Given the description of an element on the screen output the (x, y) to click on. 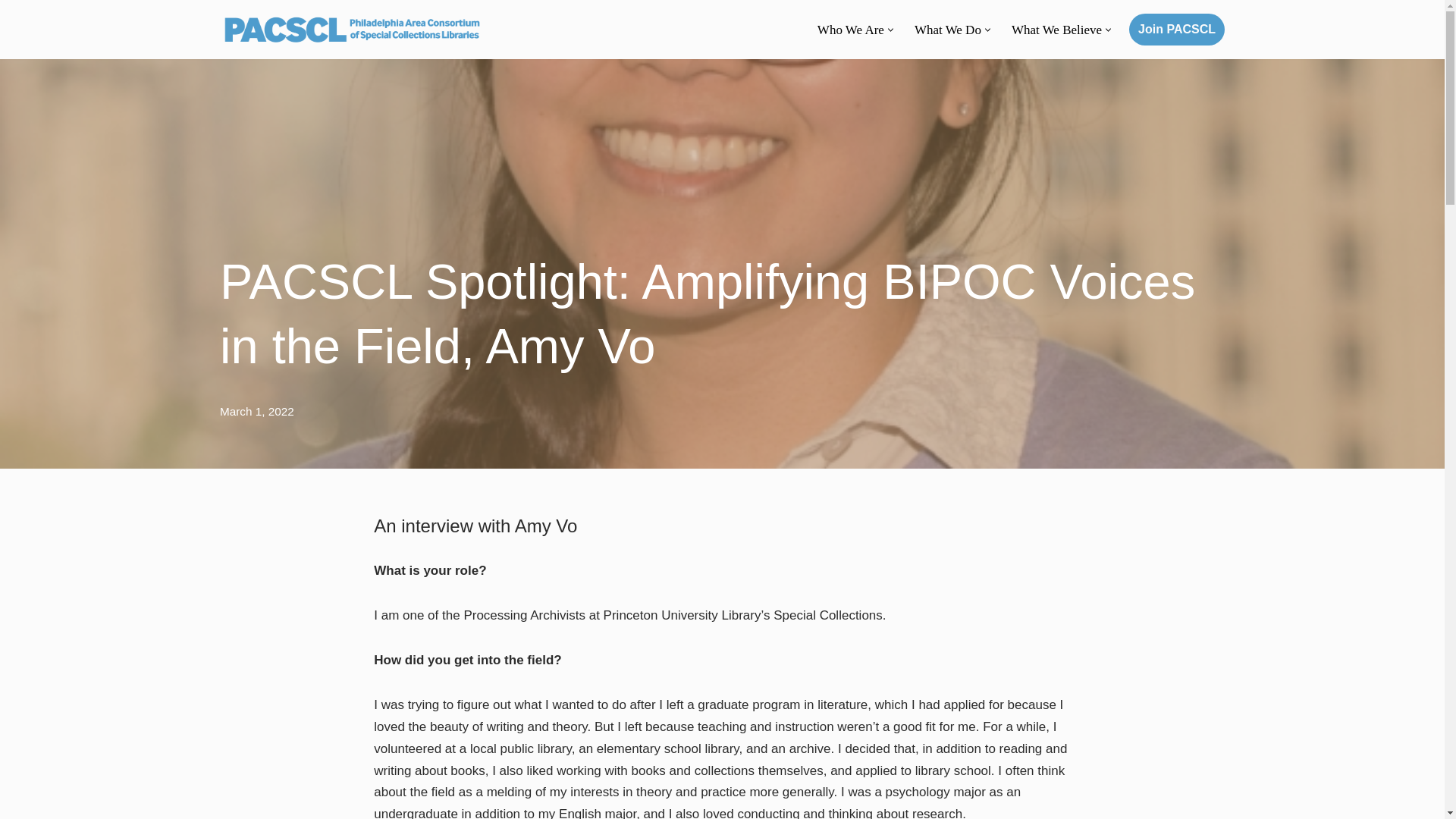
Who We Are (849, 29)
Skip to content (11, 31)
What We Do (947, 29)
